Given the description of an element on the screen output the (x, y) to click on. 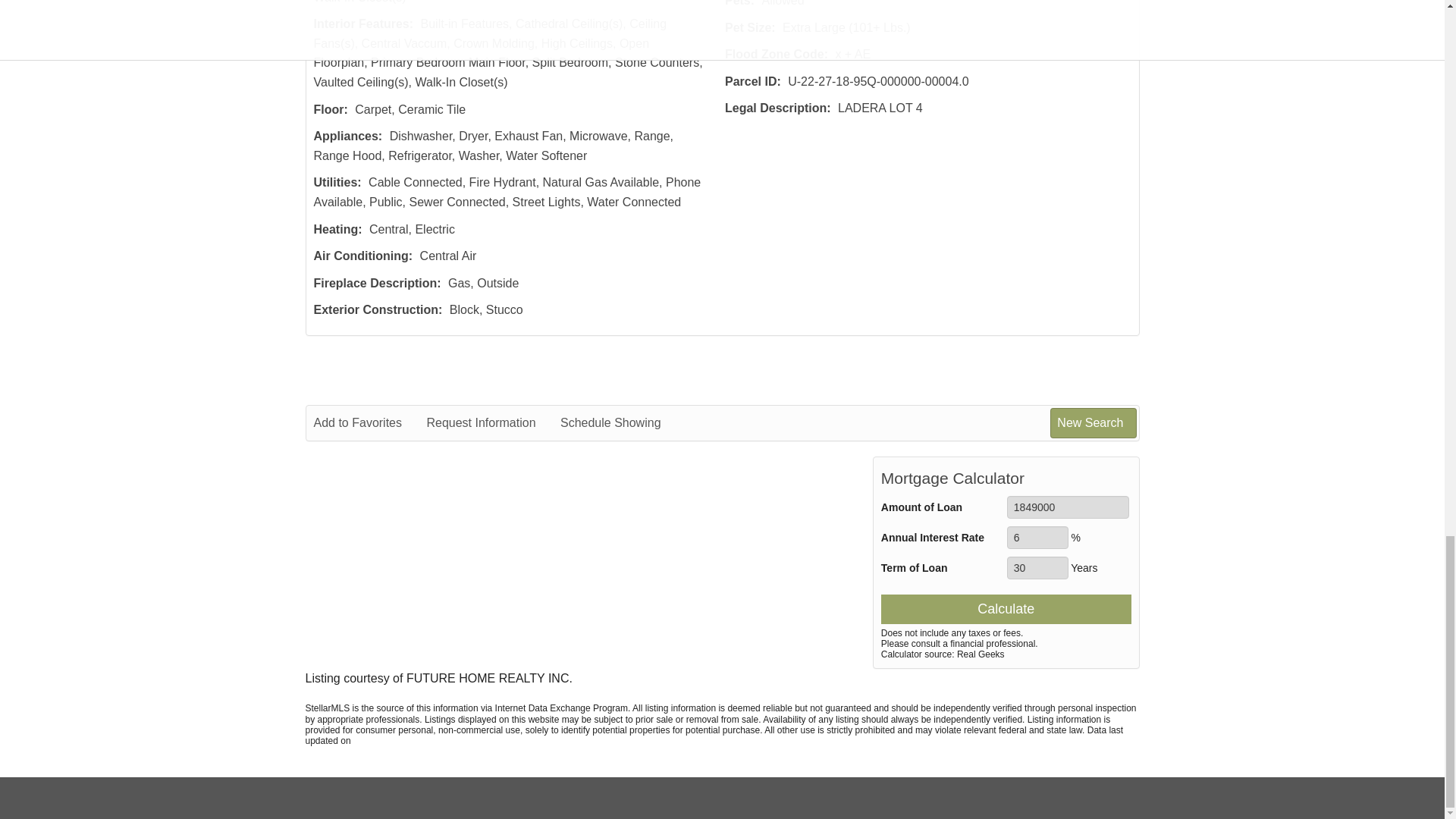
30 (1037, 567)
1849000 (1068, 506)
6 (1037, 536)
